Given the description of an element on the screen output the (x, y) to click on. 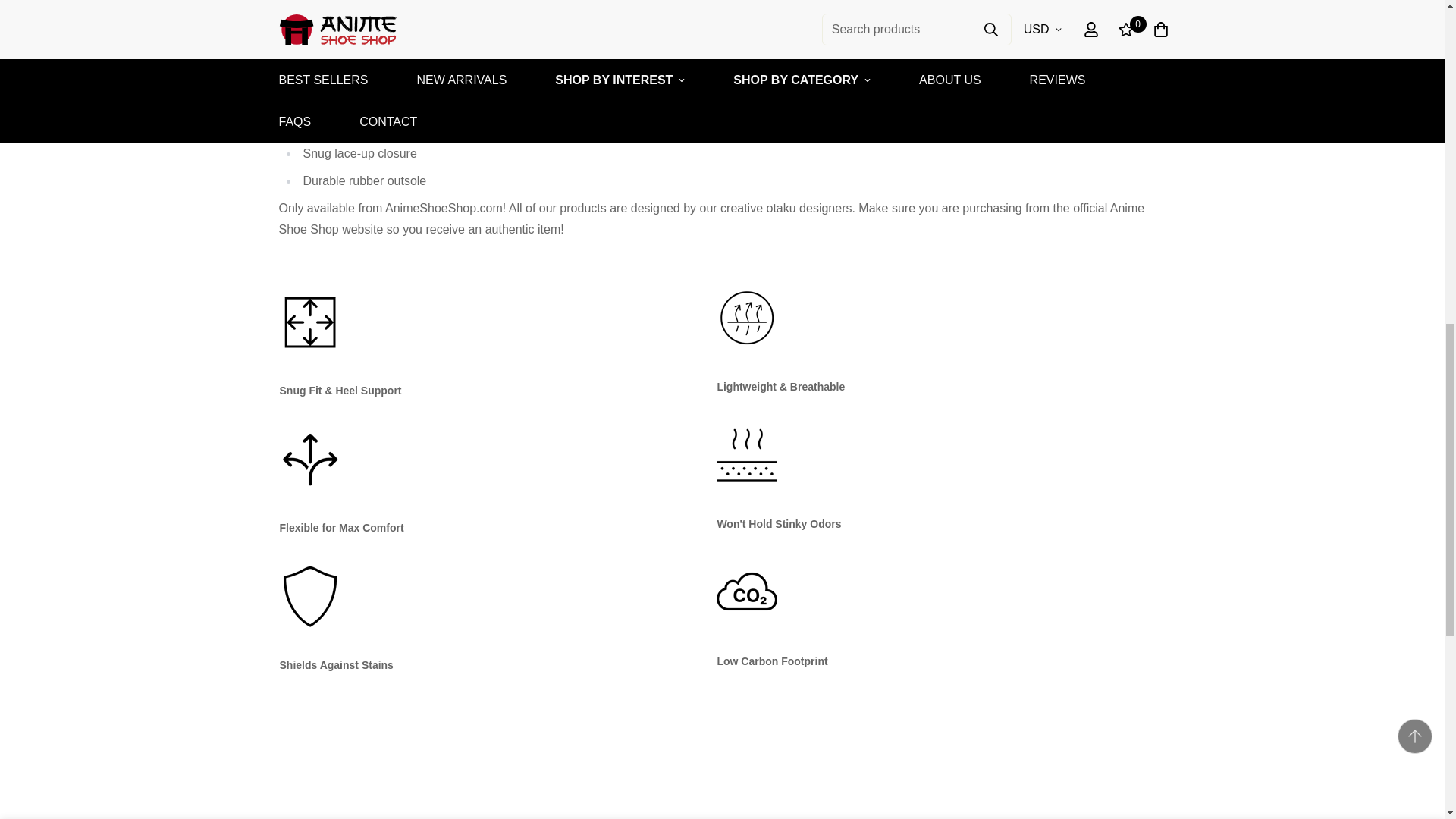
1 (823, 28)
